Given the description of an element on the screen output the (x, y) to click on. 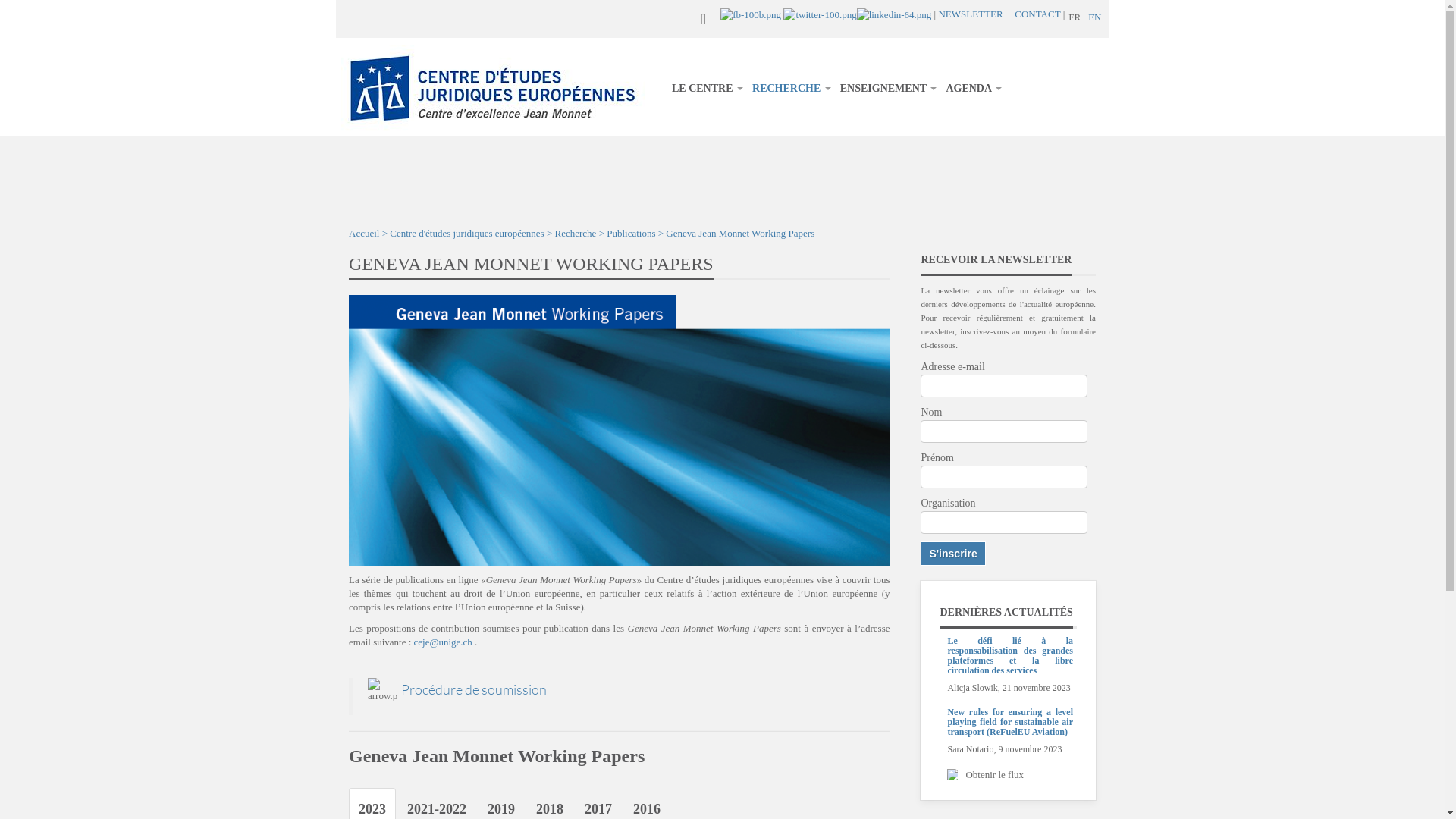
NEWSLETTER Element type: text (970, 13)
Rechercher Element type: text (674, 18)
RECHERCHE Element type: text (791, 88)
LE CENTRE Element type: text (707, 88)
Recherche Element type: text (575, 232)
ENSEIGNEMENT Element type: text (888, 88)
Publications Element type: text (630, 232)
Suivez-nous sur Twitter Element type: hover (819, 13)
ceje@unige.ch Element type: text (443, 641)
CONTACT Element type: text (1037, 13)
CodeStrat Concrete5 Addon Development Element type: hover (952, 773)
Linkedin Element type: hover (893, 13)
Suivez-nous sur Facebook Element type: hover (750, 13)
Accueil Element type: text (363, 232)
S'inscrire Element type: text (952, 553)
AGENDA Element type: text (973, 88)
